Given the description of an element on the screen output the (x, y) to click on. 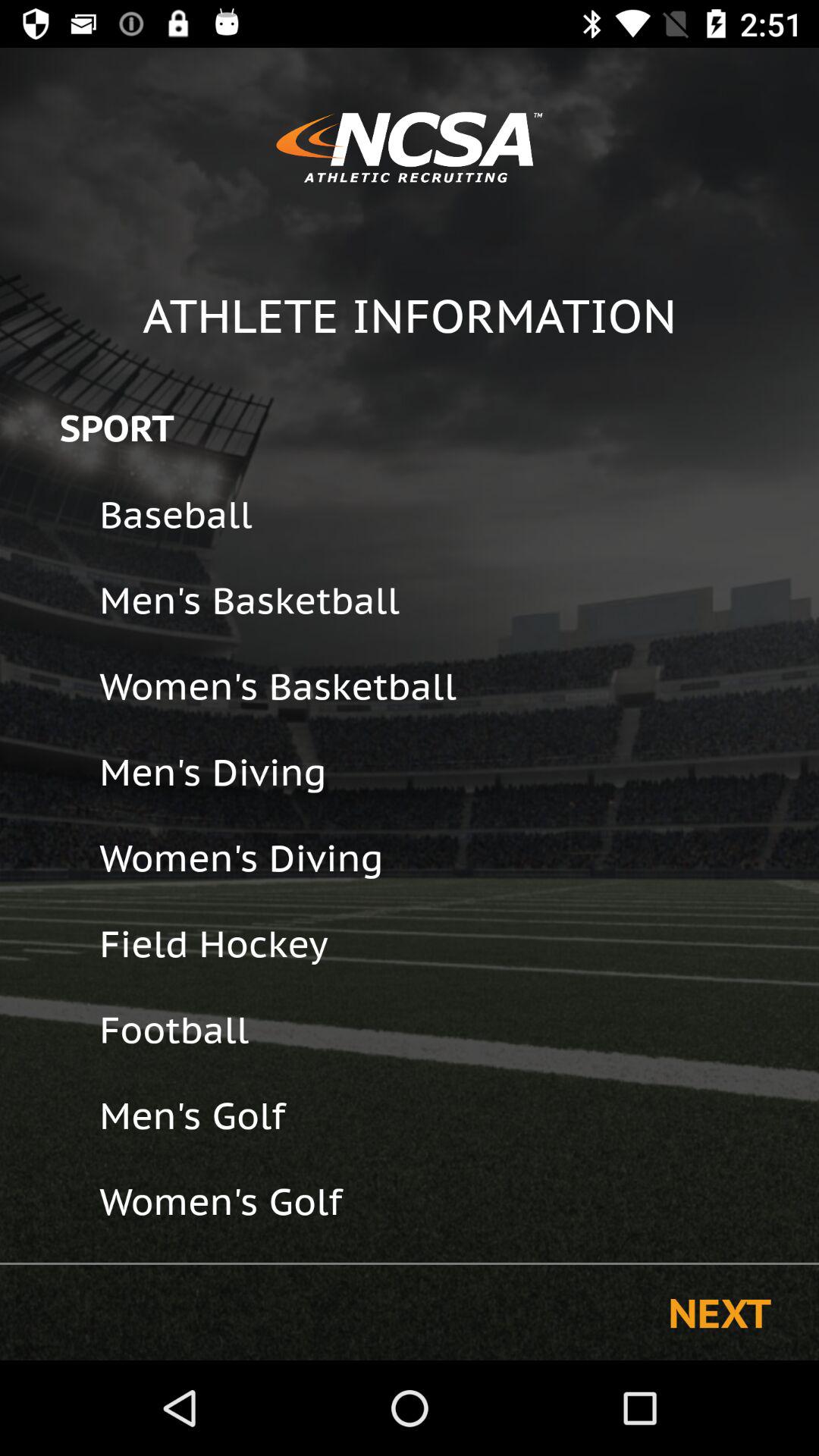
turn on next item (719, 1312)
